Given the description of an element on the screen output the (x, y) to click on. 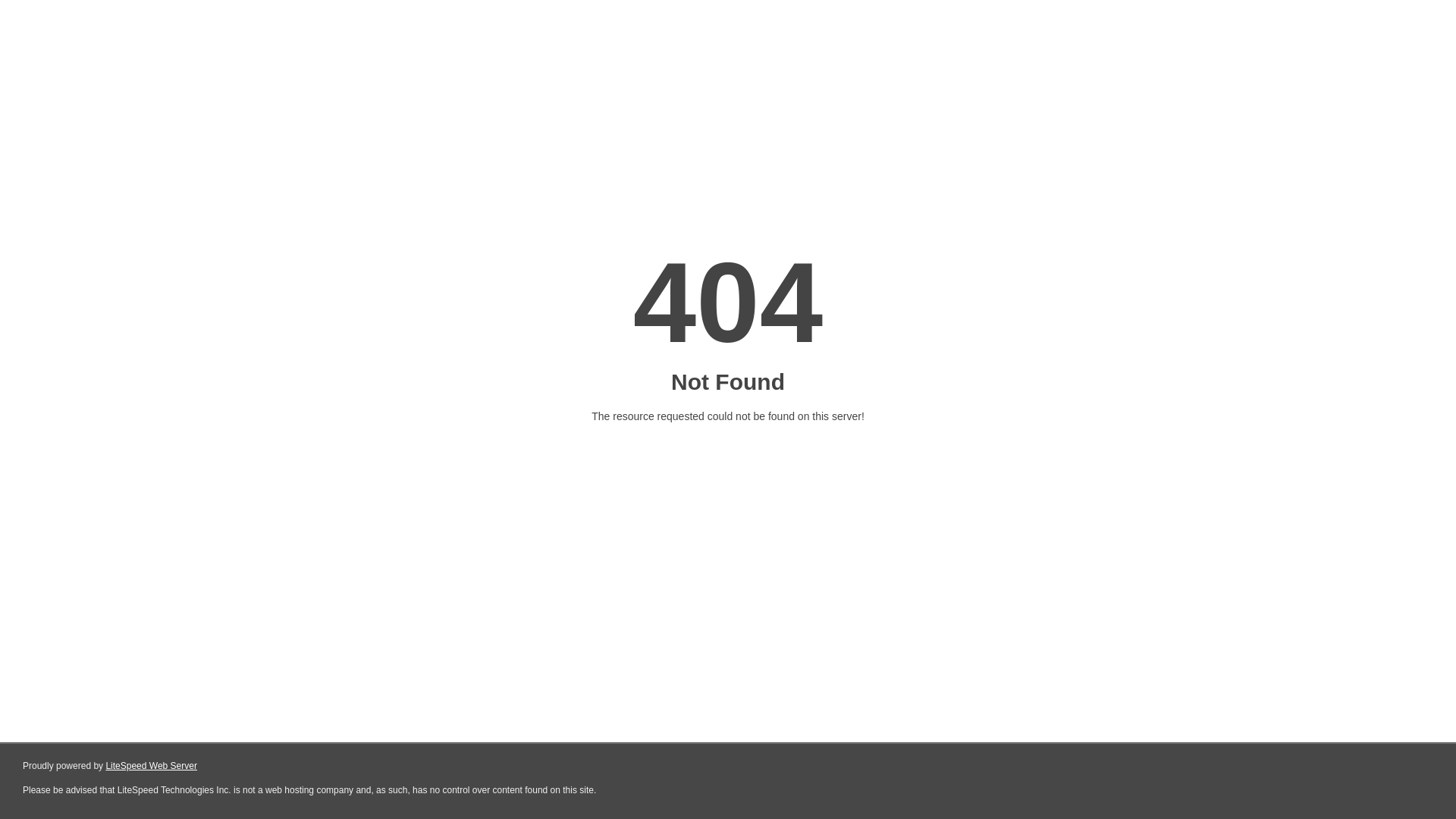
LiteSpeed Web Server Element type: text (151, 765)
